Given the description of an element on the screen output the (x, y) to click on. 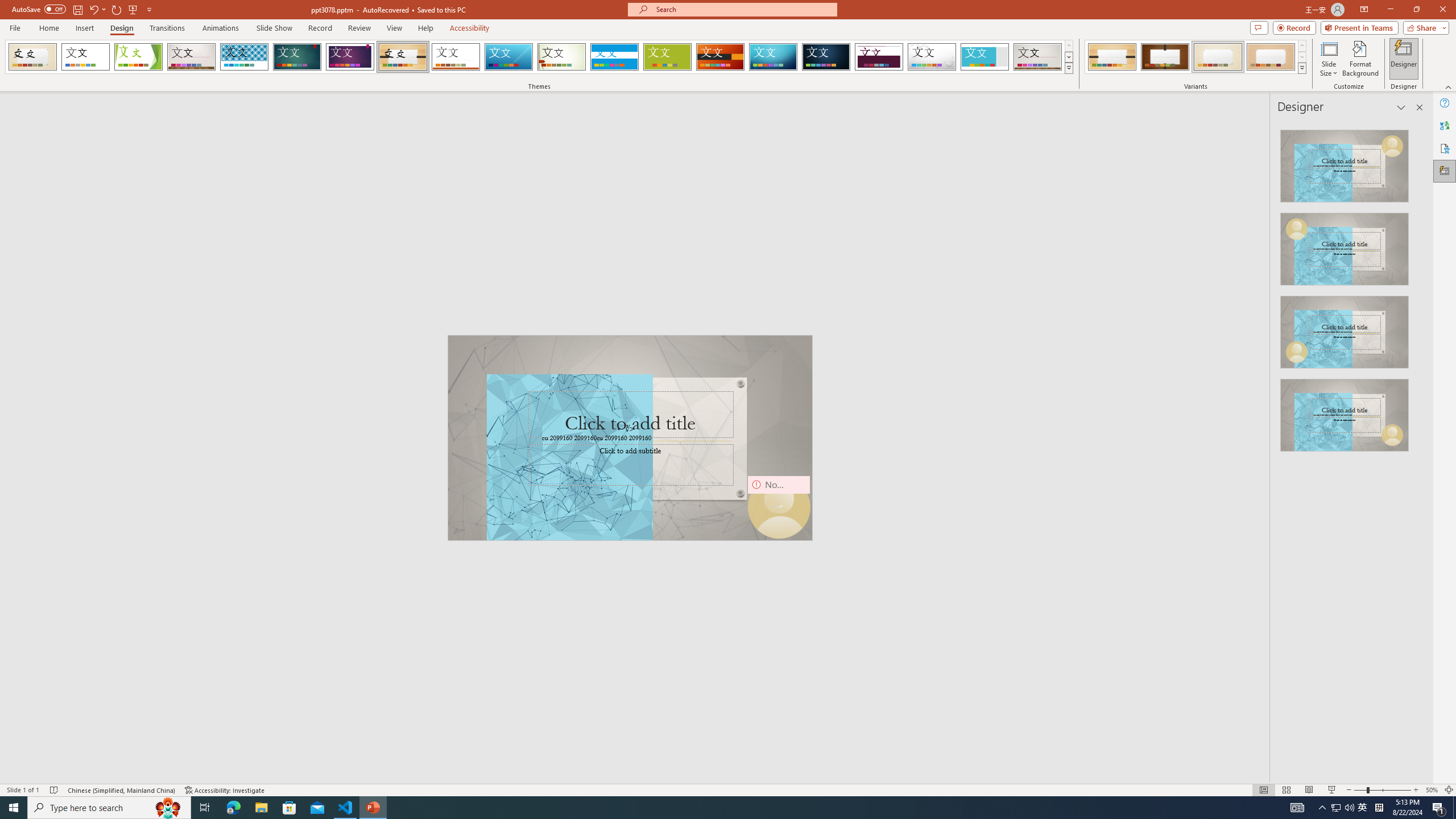
Variants (1301, 67)
Zoom 50% (1431, 790)
Organic (403, 56)
Frame (984, 56)
Ion (296, 56)
Organic Variant 1 (1112, 56)
